Given the description of an element on the screen output the (x, y) to click on. 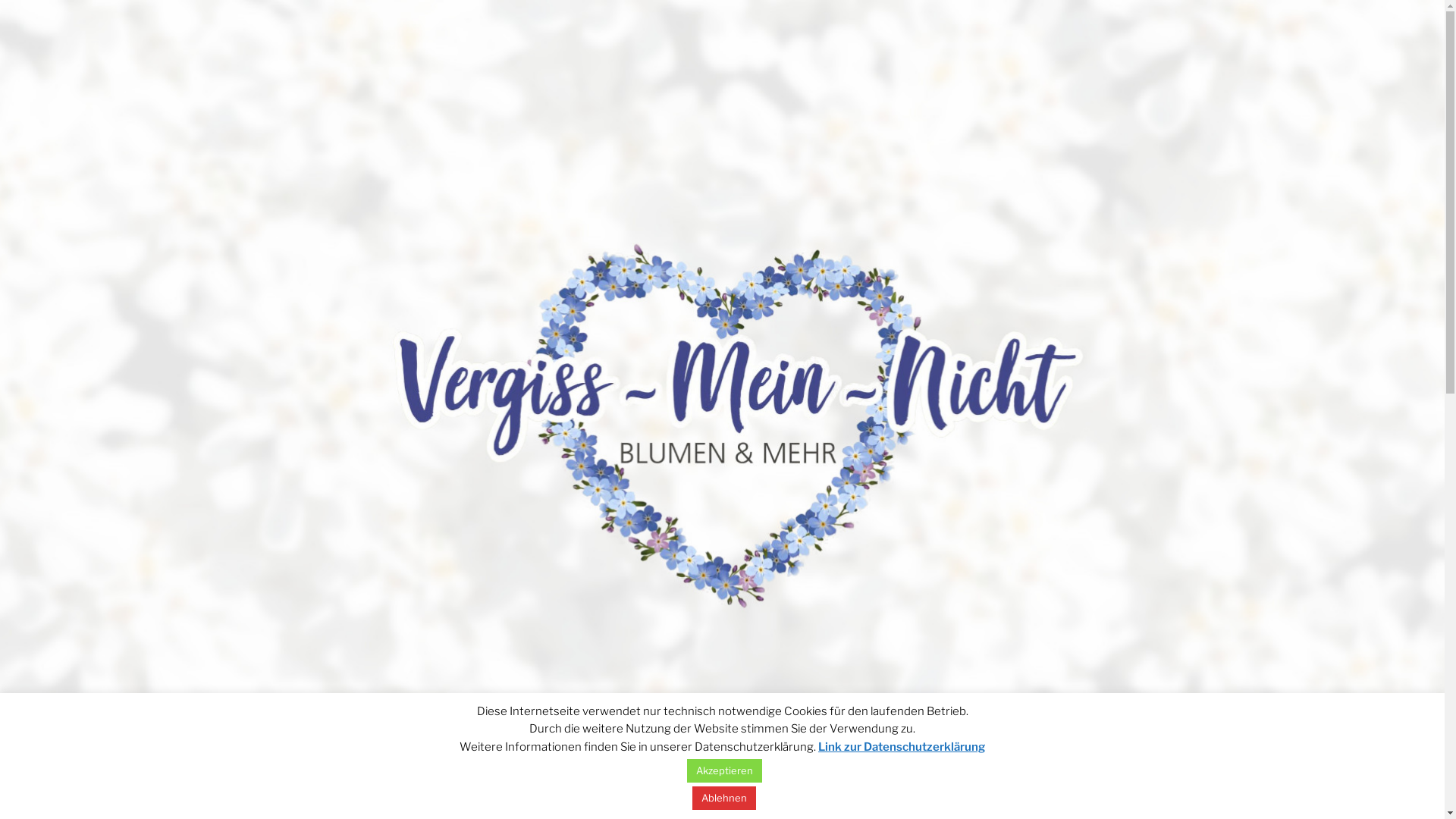
Trauer Element type: text (562, 791)
Akzeptieren Element type: text (724, 770)
VERGISS-MEIN-NICHT Element type: text (553, 744)
Ablehnen Element type: text (724, 797)
Kontakt Element type: text (947, 791)
Zum Inhalt nach unten scrollen Element type: text (995, 790)
Startseite Element type: text (490, 791)
Kleine Aufmerksamkeiten Element type: text (832, 791)
Hochzeiten Element type: text (710, 791)
